Given the description of an element on the screen output the (x, y) to click on. 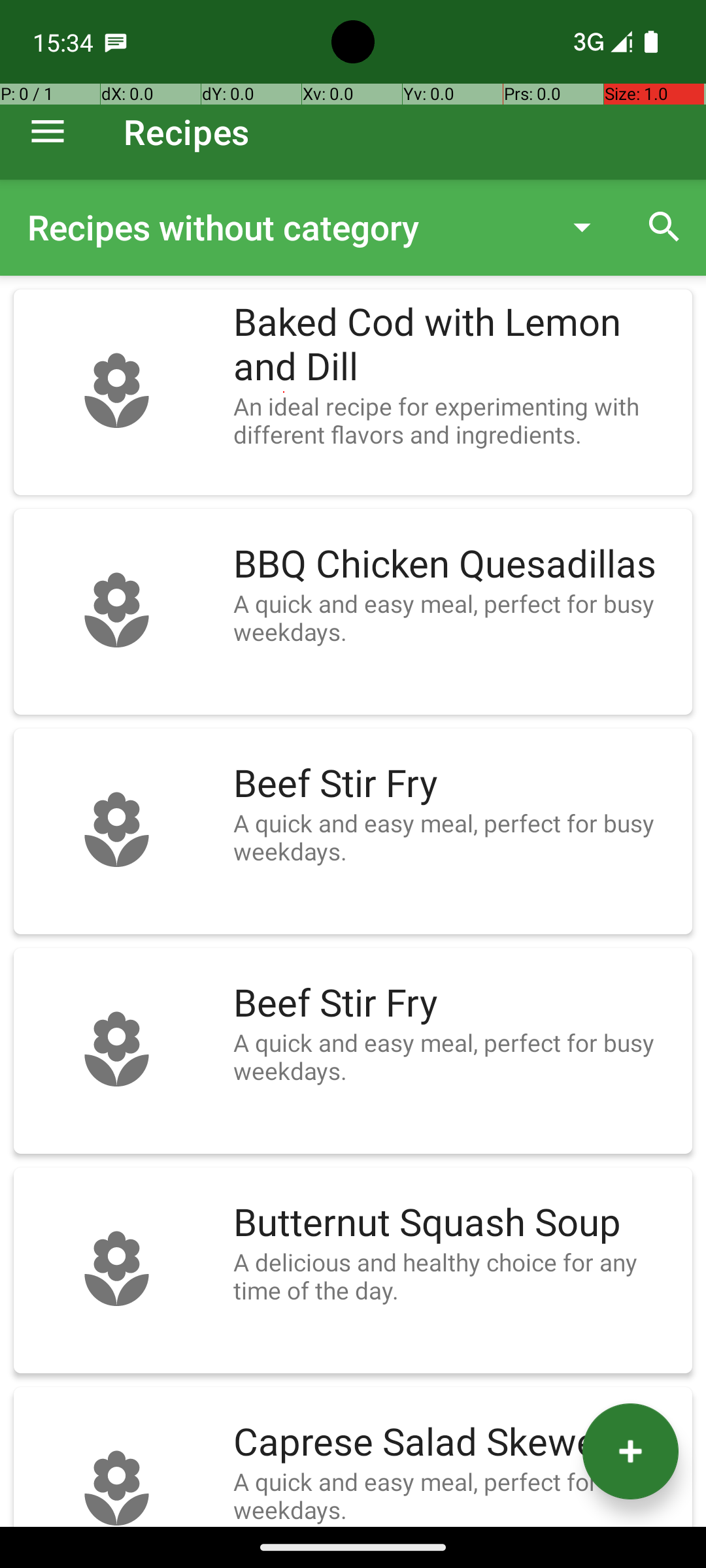
Recipes without category Element type: android.widget.TextView (283, 226)
Baked Cod with Lemon and Dill Element type: android.widget.TextView (455, 344)
BBQ Chicken Quesadillas Element type: android.widget.TextView (455, 564)
Beef Stir Fry Element type: android.widget.TextView (455, 783)
Butternut Squash Soup Element type: android.widget.TextView (455, 1222)
